Given the description of an element on the screen output the (x, y) to click on. 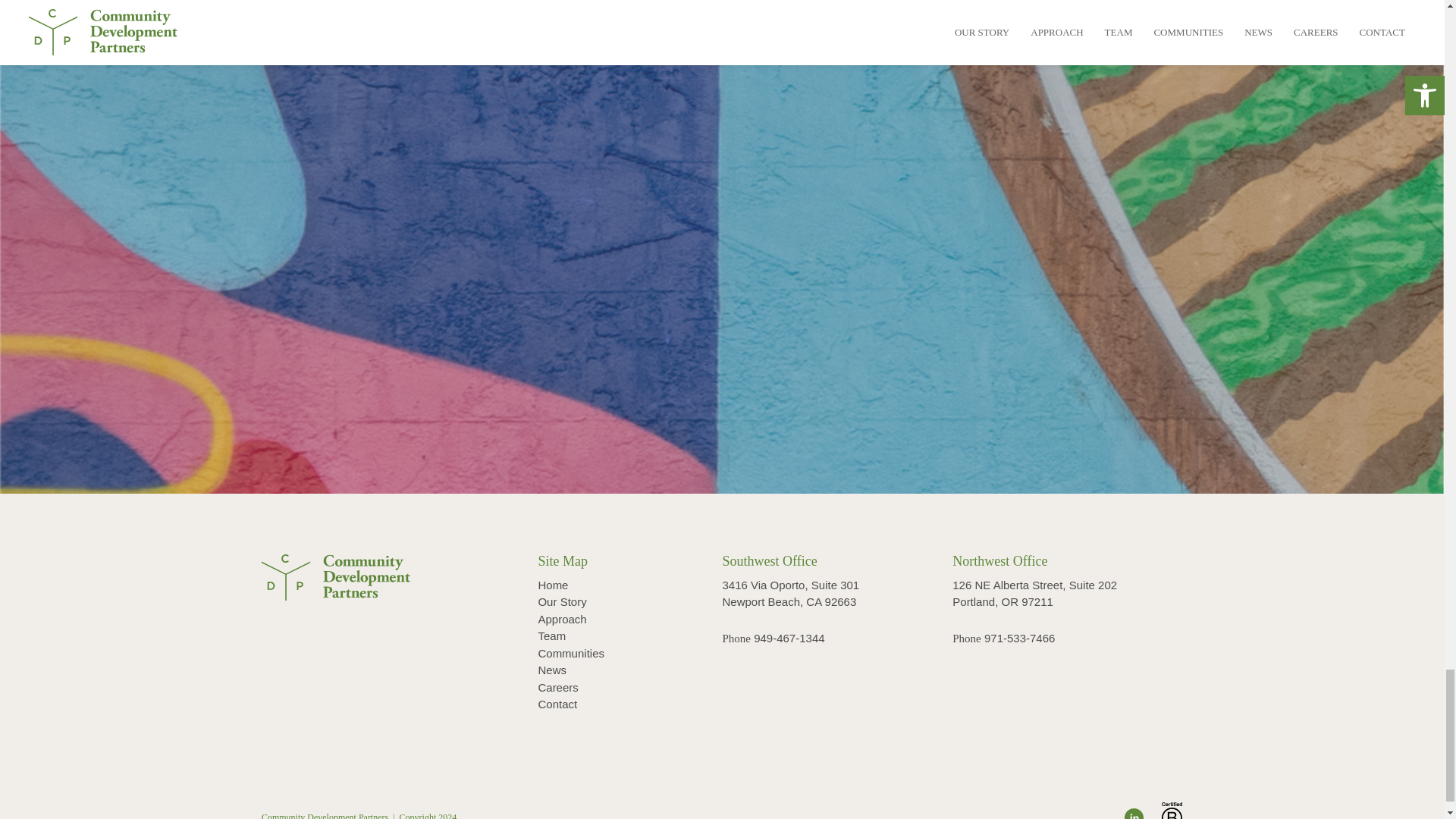
Our Story (561, 601)
Home (552, 584)
Approach (561, 618)
Team (551, 635)
